Given the description of an element on the screen output the (x, y) to click on. 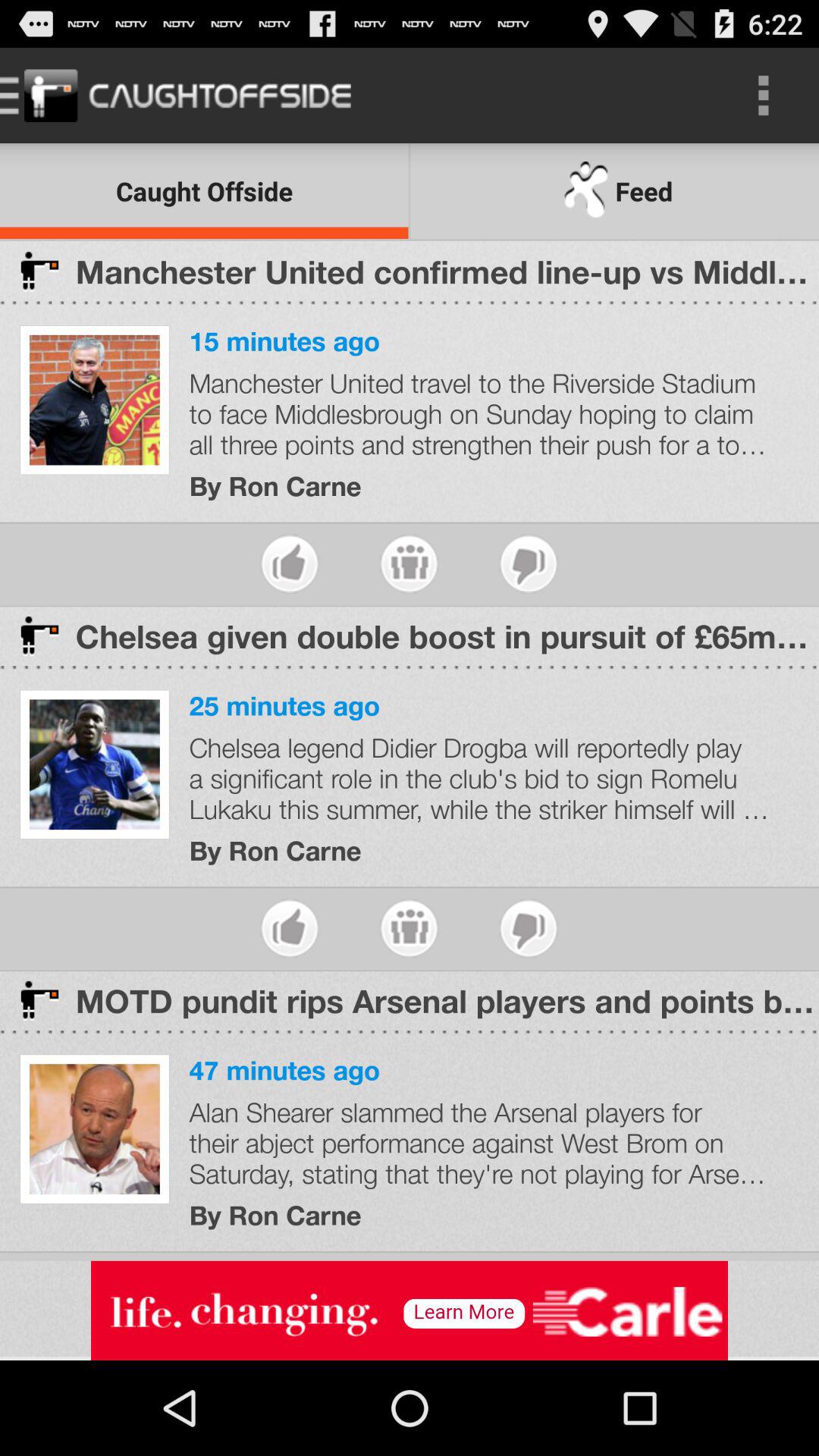
save story (409, 563)
